Given the description of an element on the screen output the (x, y) to click on. 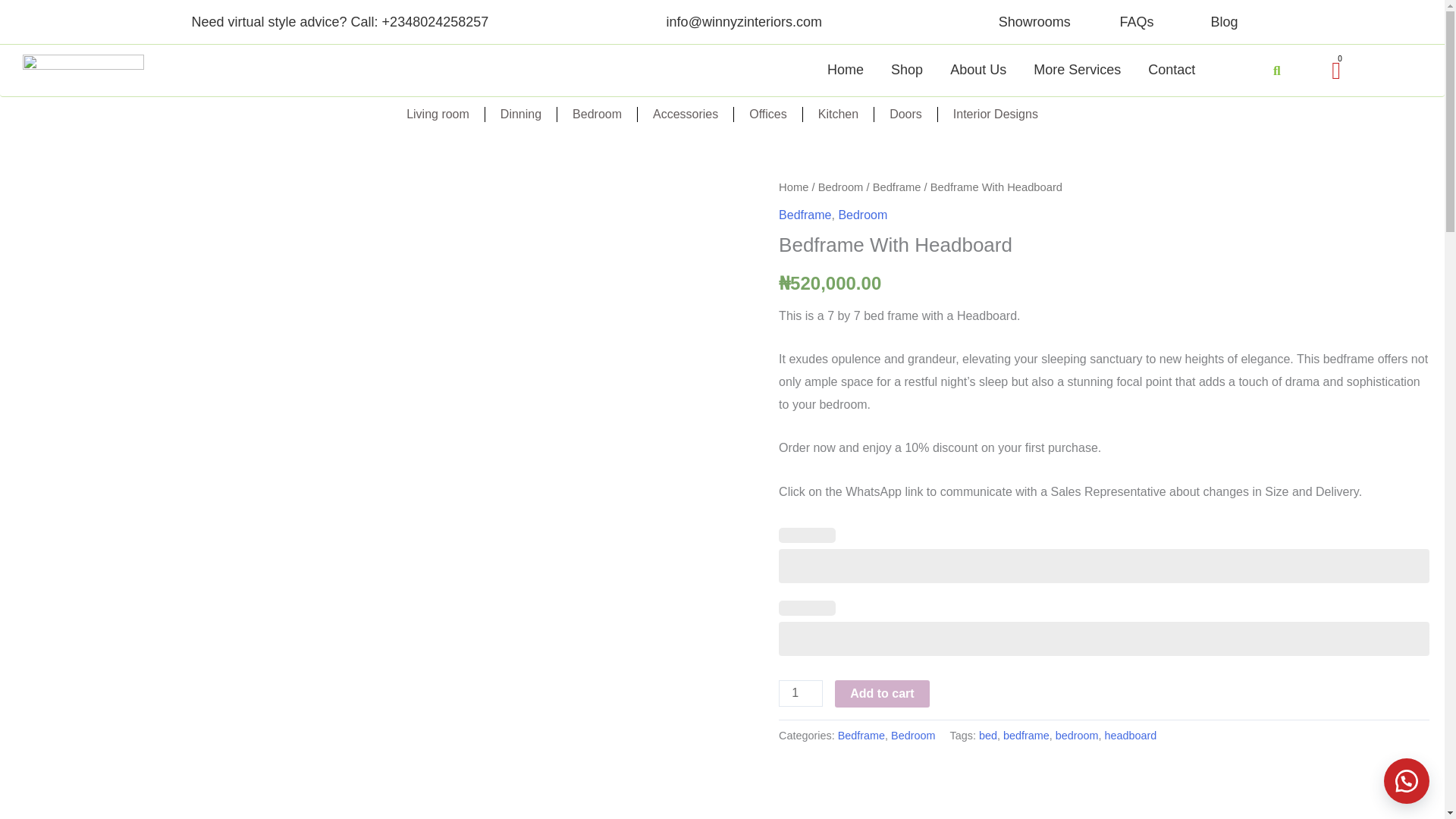
FAQs (1136, 21)
About Us (977, 70)
More Services (1076, 70)
Contact (1171, 70)
Home (845, 70)
Showrooms (1034, 21)
Blog (1223, 21)
1 (800, 693)
Shop (906, 70)
